Given the description of an element on the screen output the (x, y) to click on. 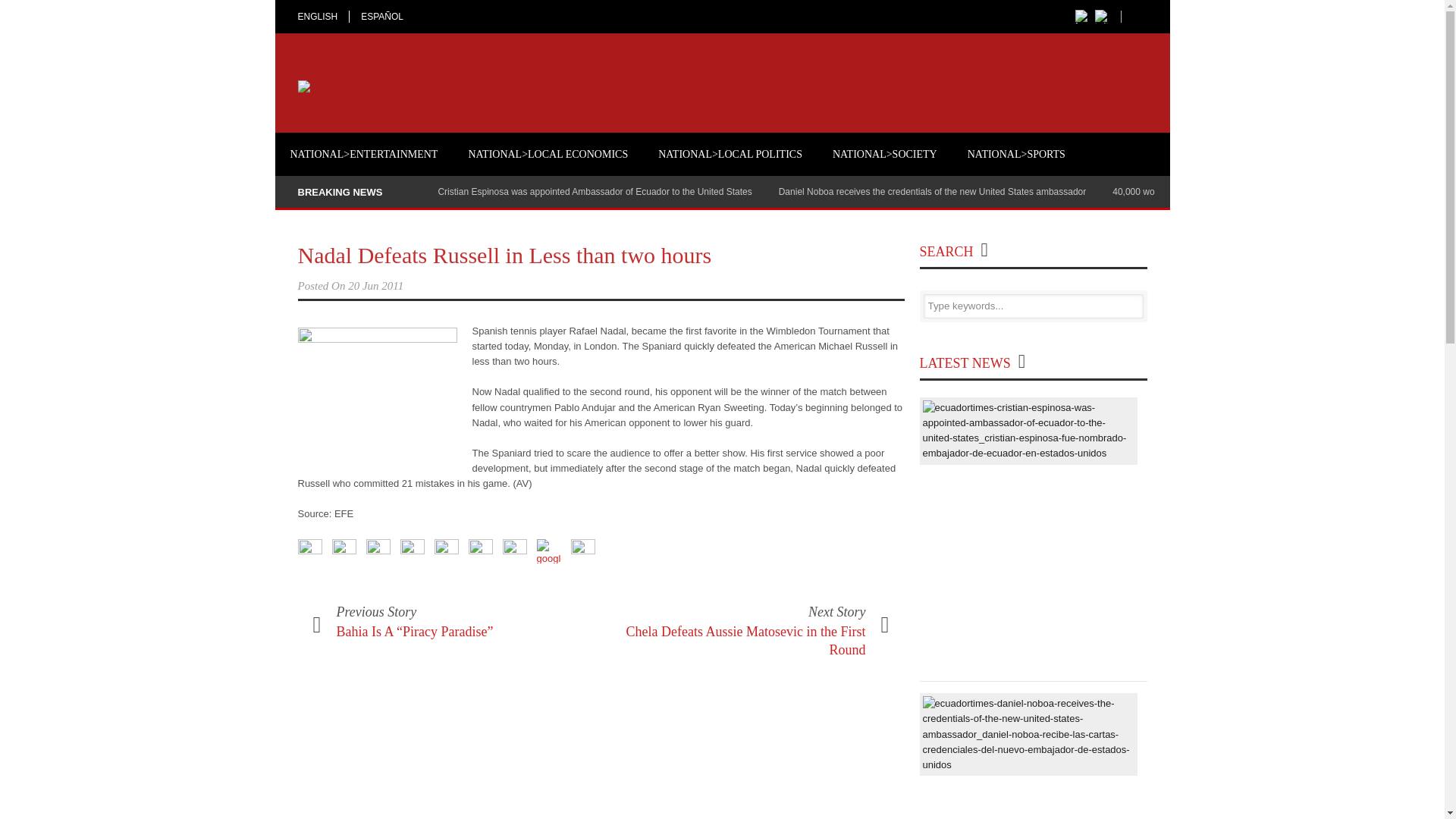
40,000 women will receive scholarships in higher education (1232, 191)
Type keywords... (1032, 306)
Wimbledon Tournament started today (377, 388)
Chela Defeats Aussie Matosevic in the First Round (746, 640)
20 Jun 2011 (375, 285)
Nadal Defeats Russell in Less than two hours (504, 254)
ENGLISH (323, 16)
